Given the description of an element on the screen output the (x, y) to click on. 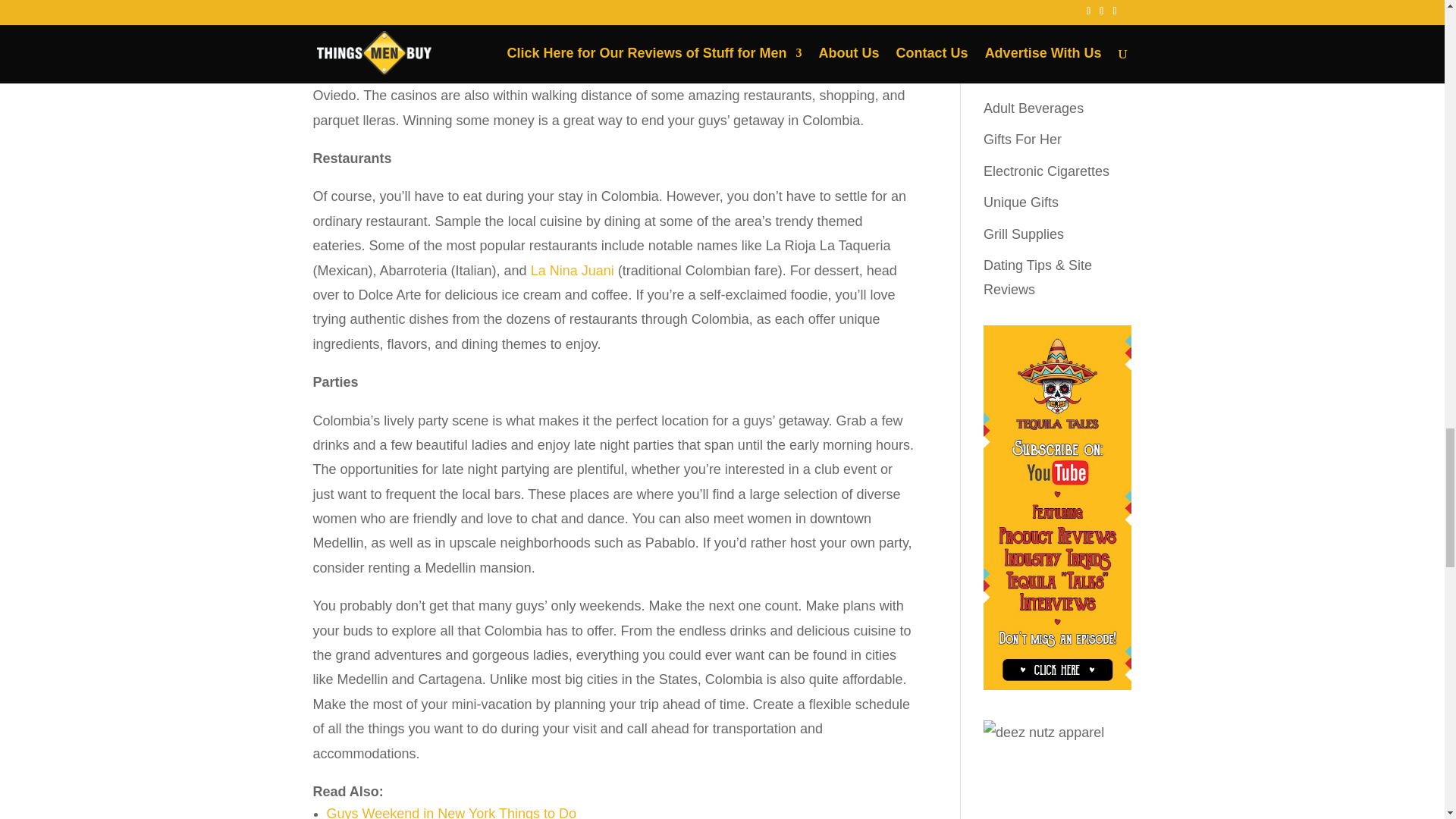
Guys Weekend in New York Things to Do (451, 812)
La Nina Juani (572, 270)
La Nina Juani (572, 270)
